Given the description of an element on the screen output the (x, y) to click on. 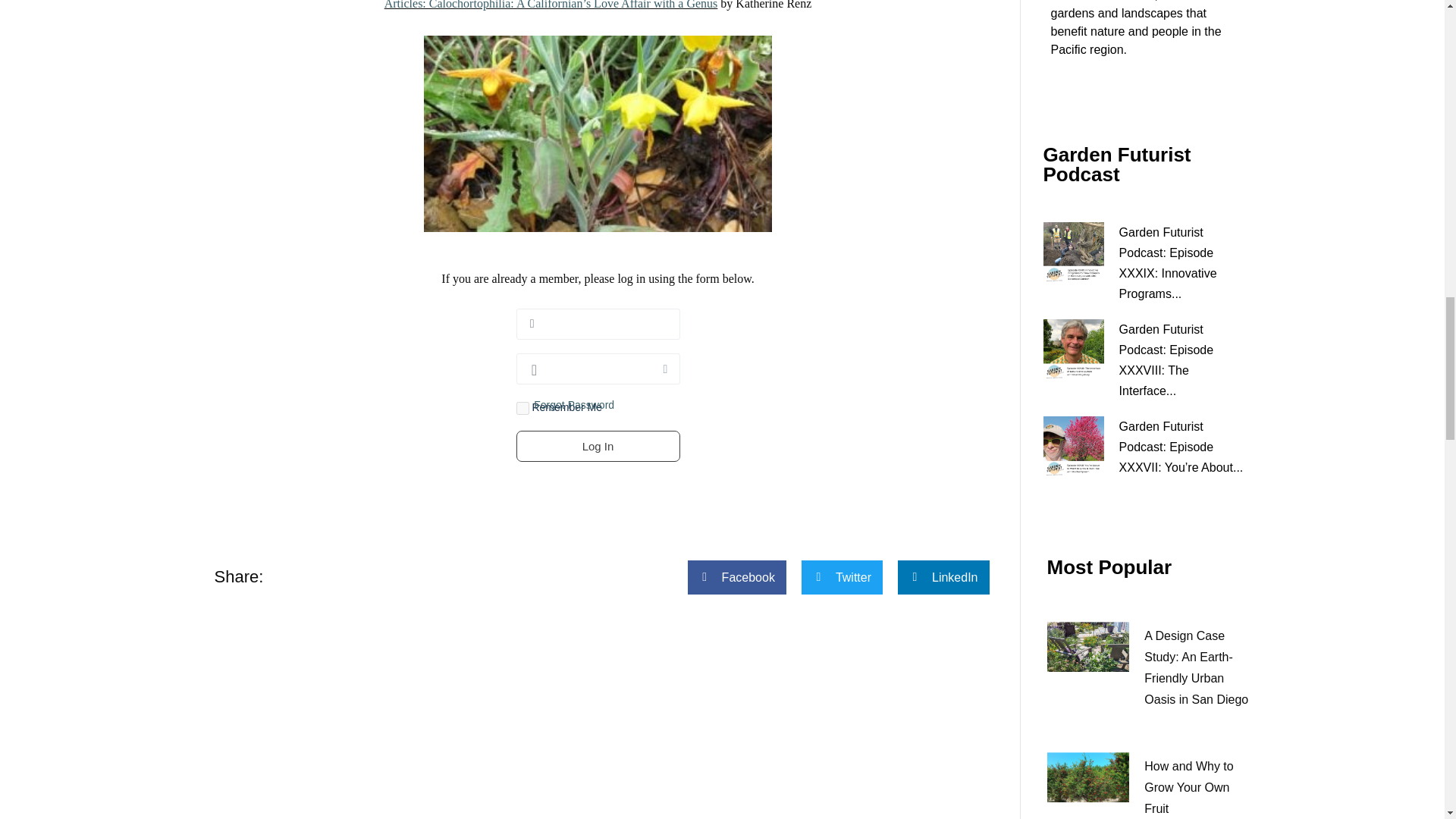
forever (521, 408)
Log In (597, 445)
